Given the description of an element on the screen output the (x, y) to click on. 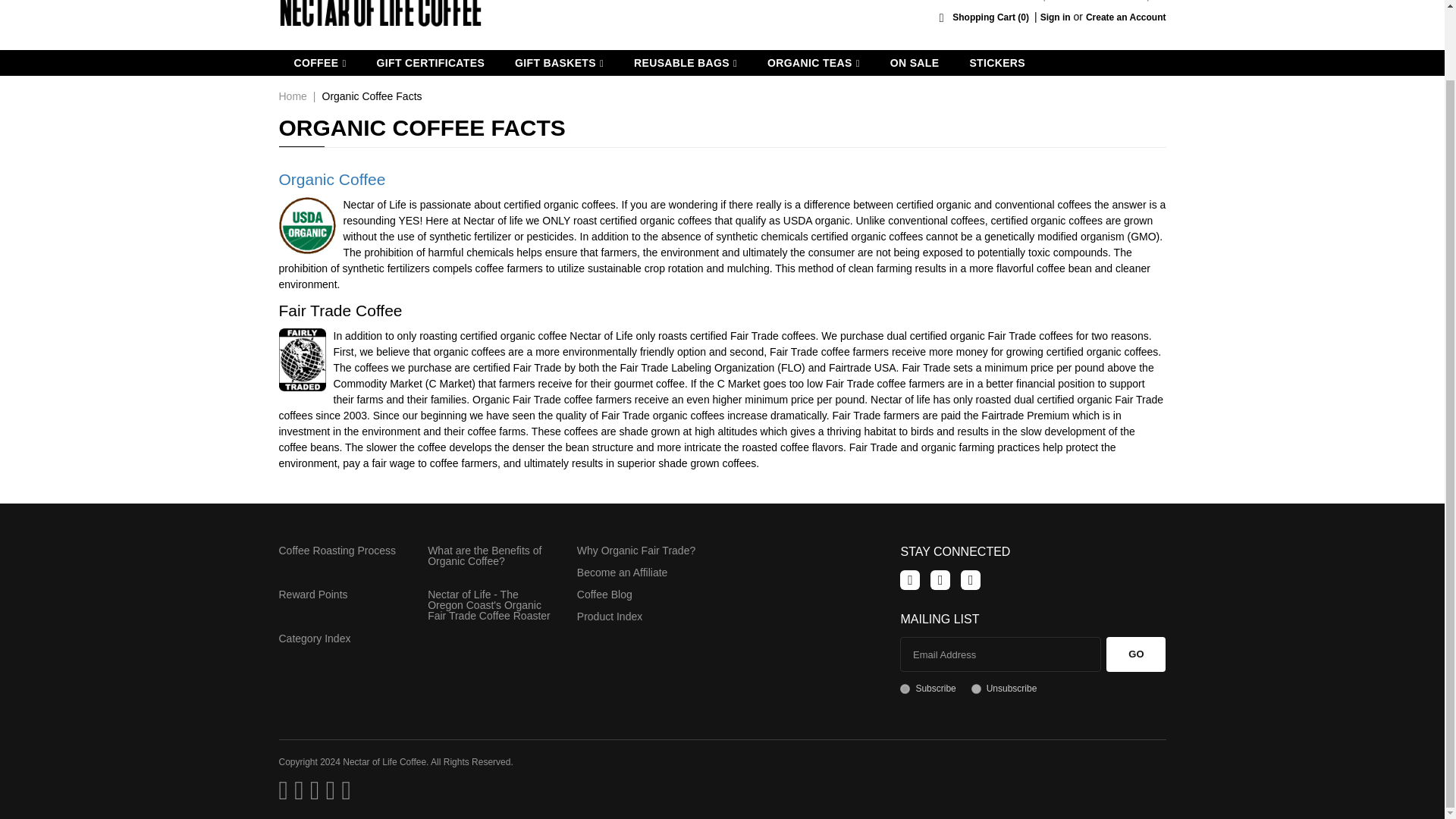
Follow Us on Instagram (969, 579)
1 (904, 688)
Create an Account (1126, 17)
Sign in (1055, 17)
Follow Us on Pinterest (940, 579)
COFFEE (320, 62)
GIFT BASKETS (558, 62)
GIFT CERTIFICATES (430, 62)
0 (976, 688)
Like Us on Facebook (909, 579)
